Given the description of an element on the screen output the (x, y) to click on. 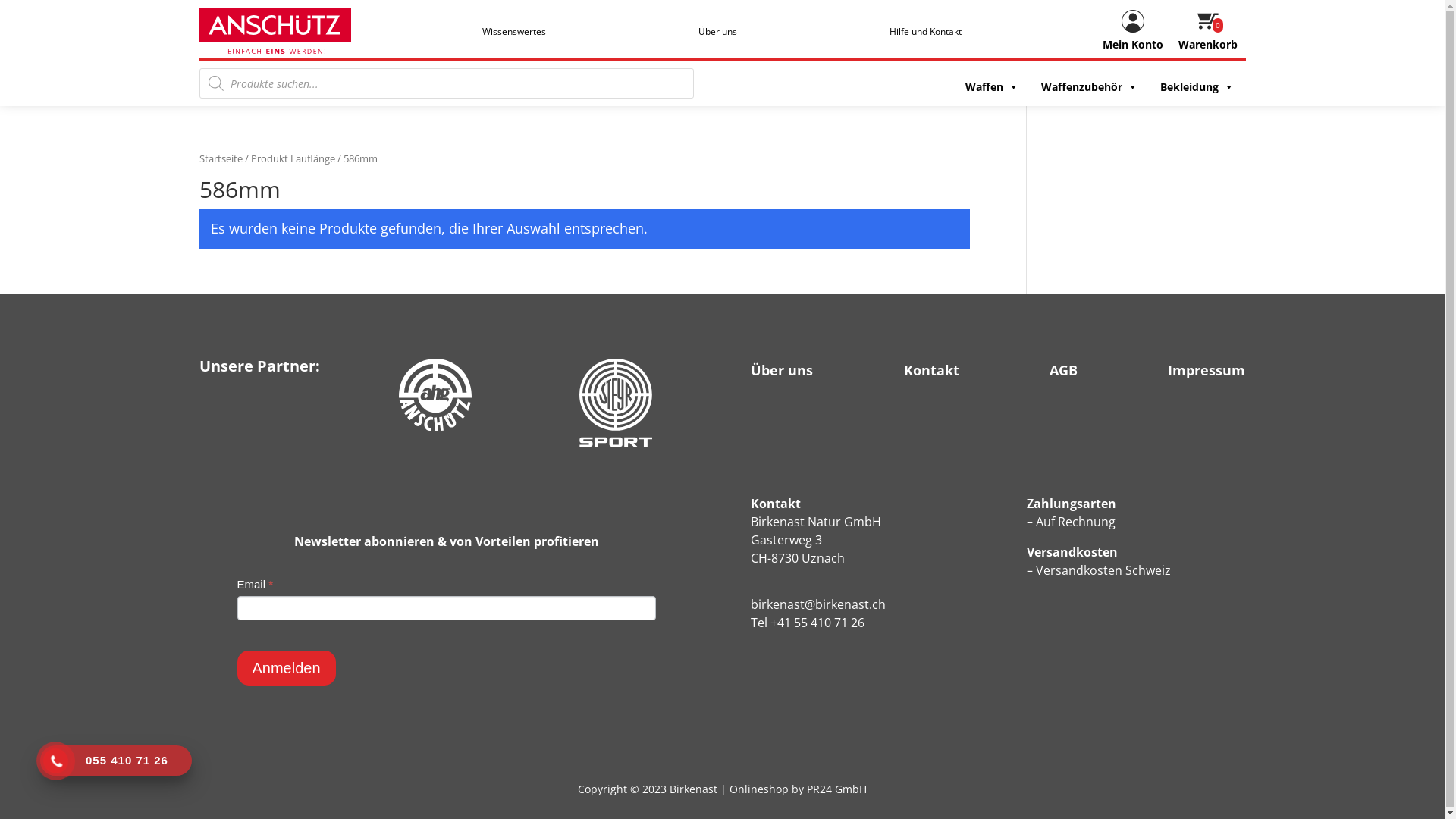
Hilfe und Kontakt Element type: text (925, 31)
Tel +41 55 410 71 26 Element type: text (807, 622)
AGB Element type: text (1063, 372)
Kontakt Element type: text (931, 372)
logo-anschutz-ahg Element type: hover (434, 394)
Mein Konto Element type: text (1132, 30)
PR24 GmbH Element type: text (836, 788)
Wissenswertes Element type: text (513, 31)
Bekleidung Element type: text (1194, 87)
Warenkorb
0 Element type: text (1207, 30)
birkenast@birkenast.ch Element type: text (817, 604)
Impressum Element type: text (1206, 372)
Waffen Element type: text (989, 87)
055 410 71 26 Element type: text (115, 760)
logo-anschuetz Element type: hover (274, 30)
Anmelden Element type: text (285, 667)
logo-anschutz-steyr Element type: hover (615, 402)
Versandkosten Schweiz Element type: text (1102, 569)
Startseite Element type: text (219, 158)
